Given the description of an element on the screen output the (x, y) to click on. 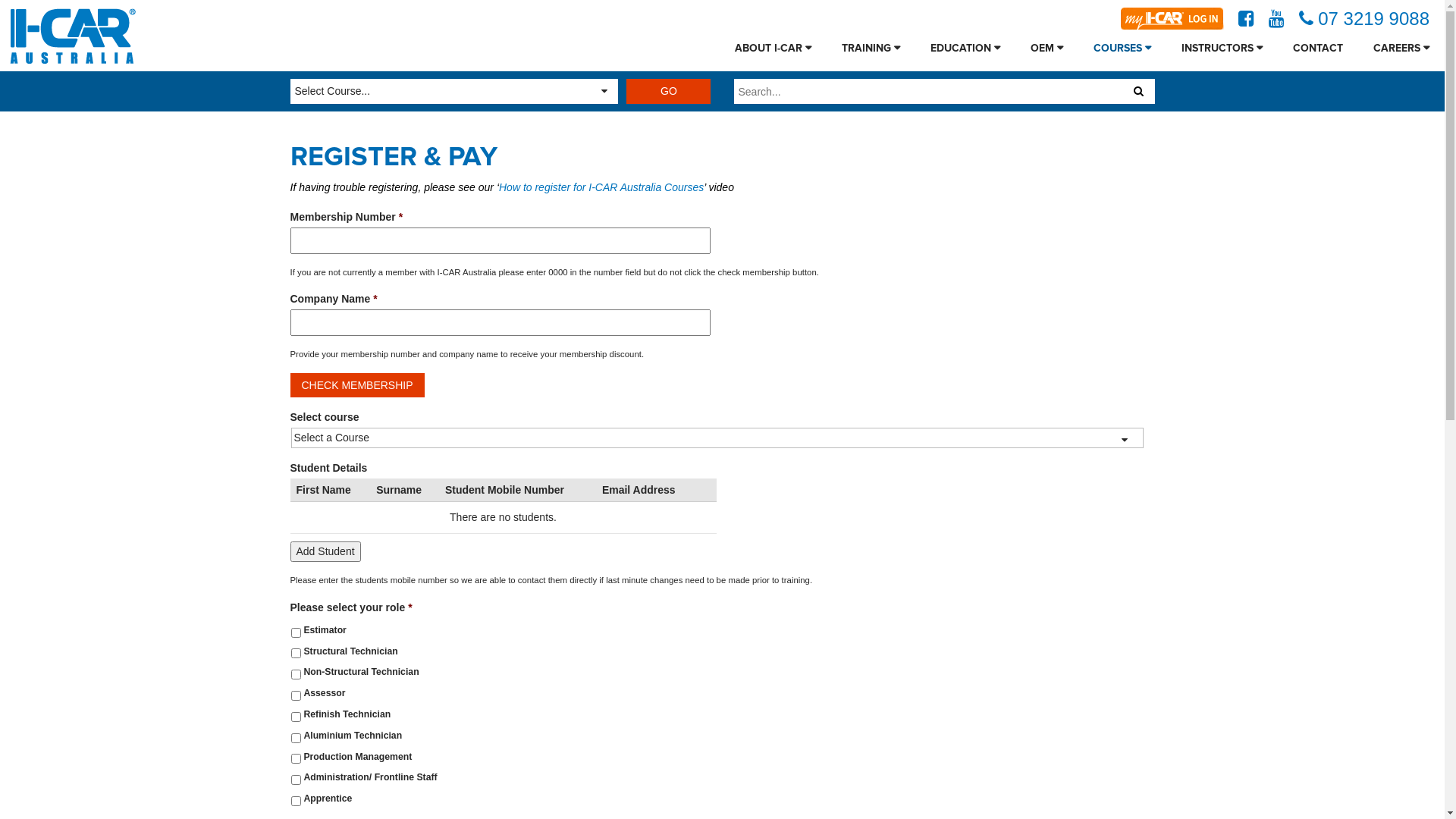
How to register for I-CAR Australia Courses Element type: text (600, 187)
CHECK MEMBERSHIP Element type: text (356, 385)
CAREERS Element type: text (1401, 48)
OEM Element type: text (1046, 48)
INSTRUCTORS Element type: text (1221, 48)
TRAINING Element type: text (870, 48)
EDUCATION Element type: text (964, 48)
CONTACT Element type: text (1317, 48)
07 3219 9088 Element type: text (1364, 18)
ABOUT I-CAR Element type: text (773, 48)
GO Element type: text (668, 90)
Add Student Element type: text (324, 551)
COURSES Element type: text (1121, 48)
